Given the description of an element on the screen output the (x, y) to click on. 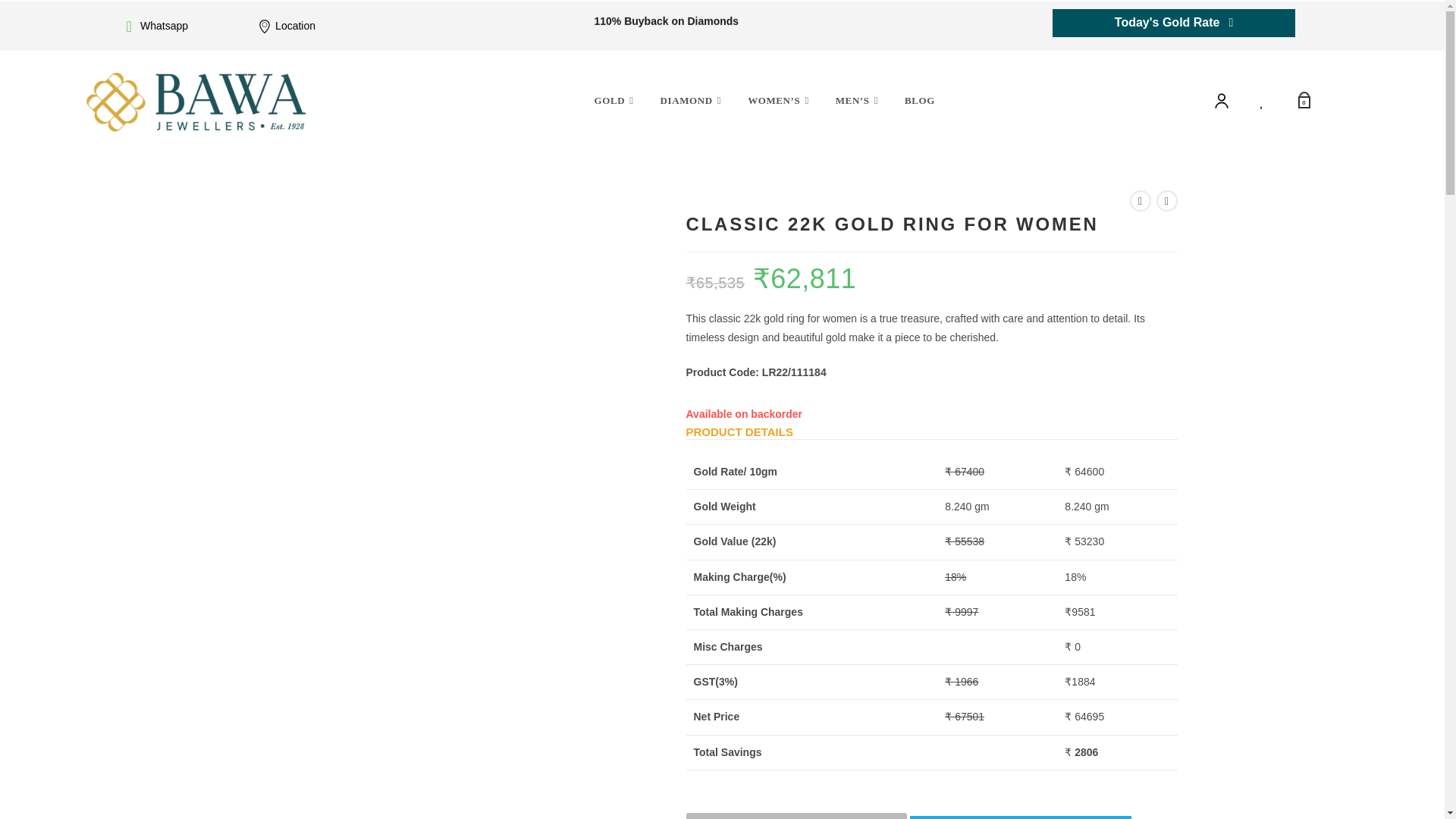
DIAMOND (692, 100)
GOLD (616, 100)
Today's Gold Rate (1173, 22)
Whatsapp (163, 25)
BLOG (919, 100)
Location (295, 25)
